Given the description of an element on the screen output the (x, y) to click on. 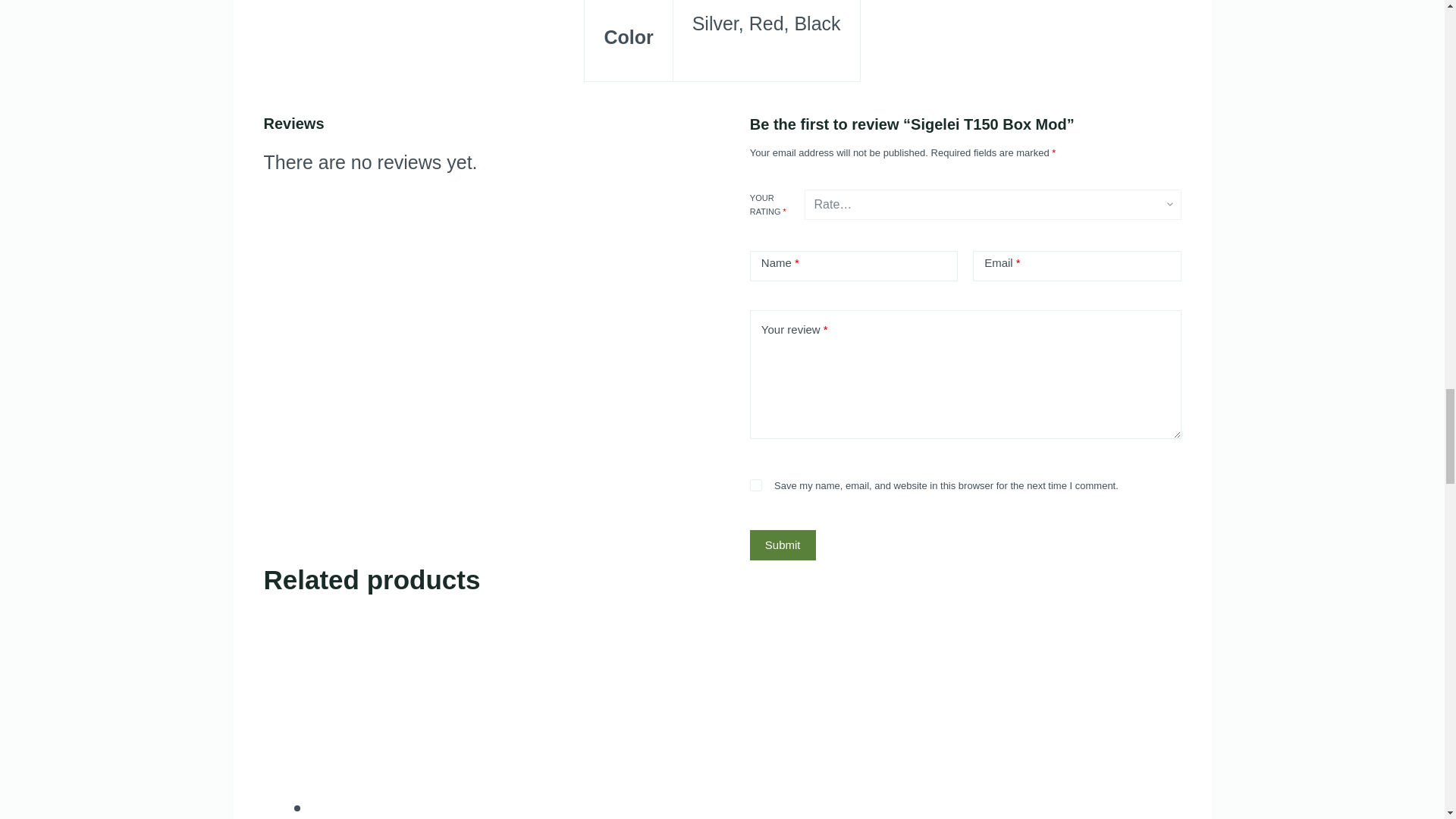
yes (755, 485)
